Given the description of an element on the screen output the (x, y) to click on. 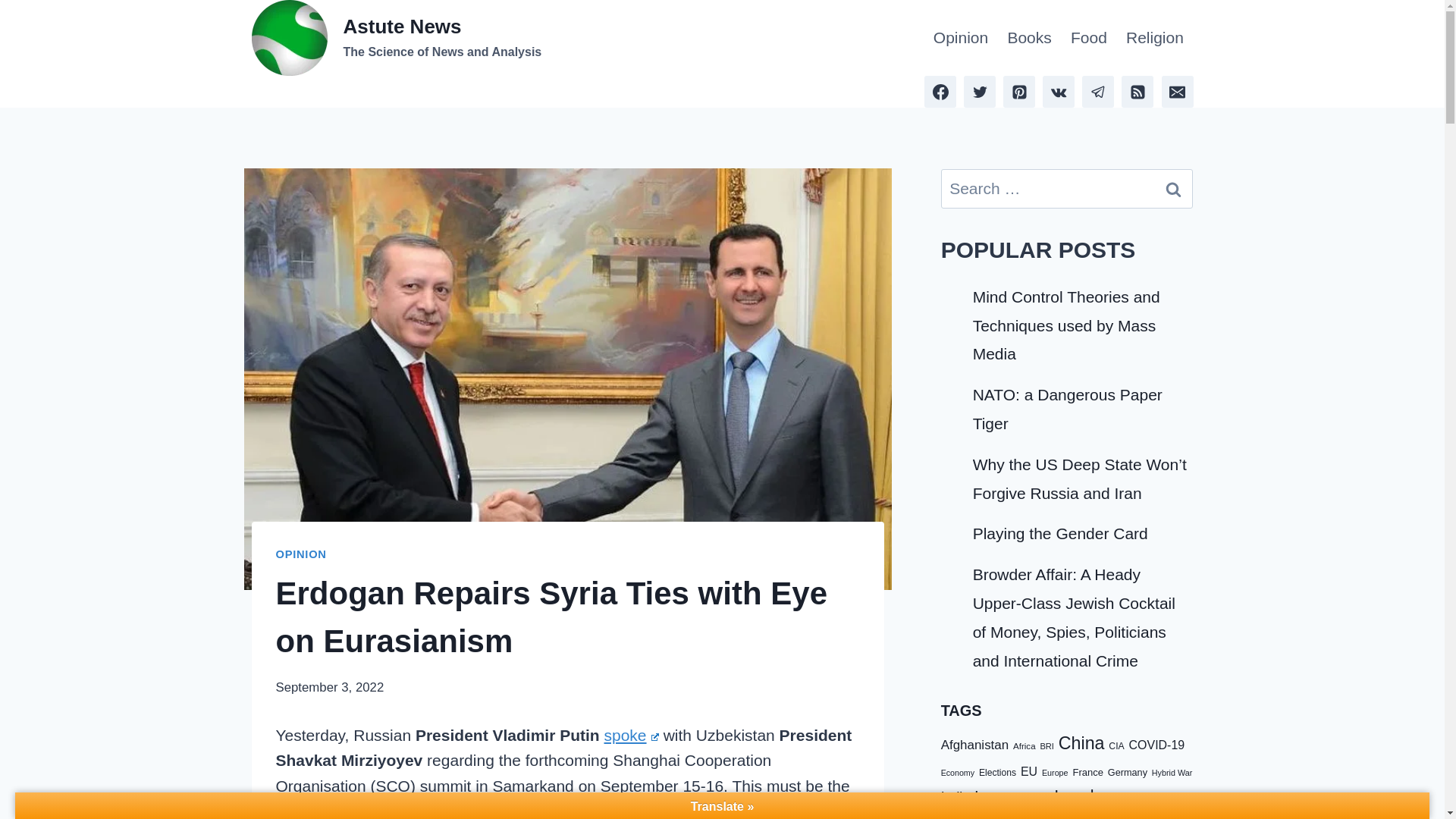
spoke (396, 38)
Religion (631, 734)
Search (1154, 37)
Search (1173, 188)
Books (1173, 188)
Opinion (1029, 37)
Food (960, 37)
OPINION (1088, 37)
